Given the description of an element on the screen output the (x, y) to click on. 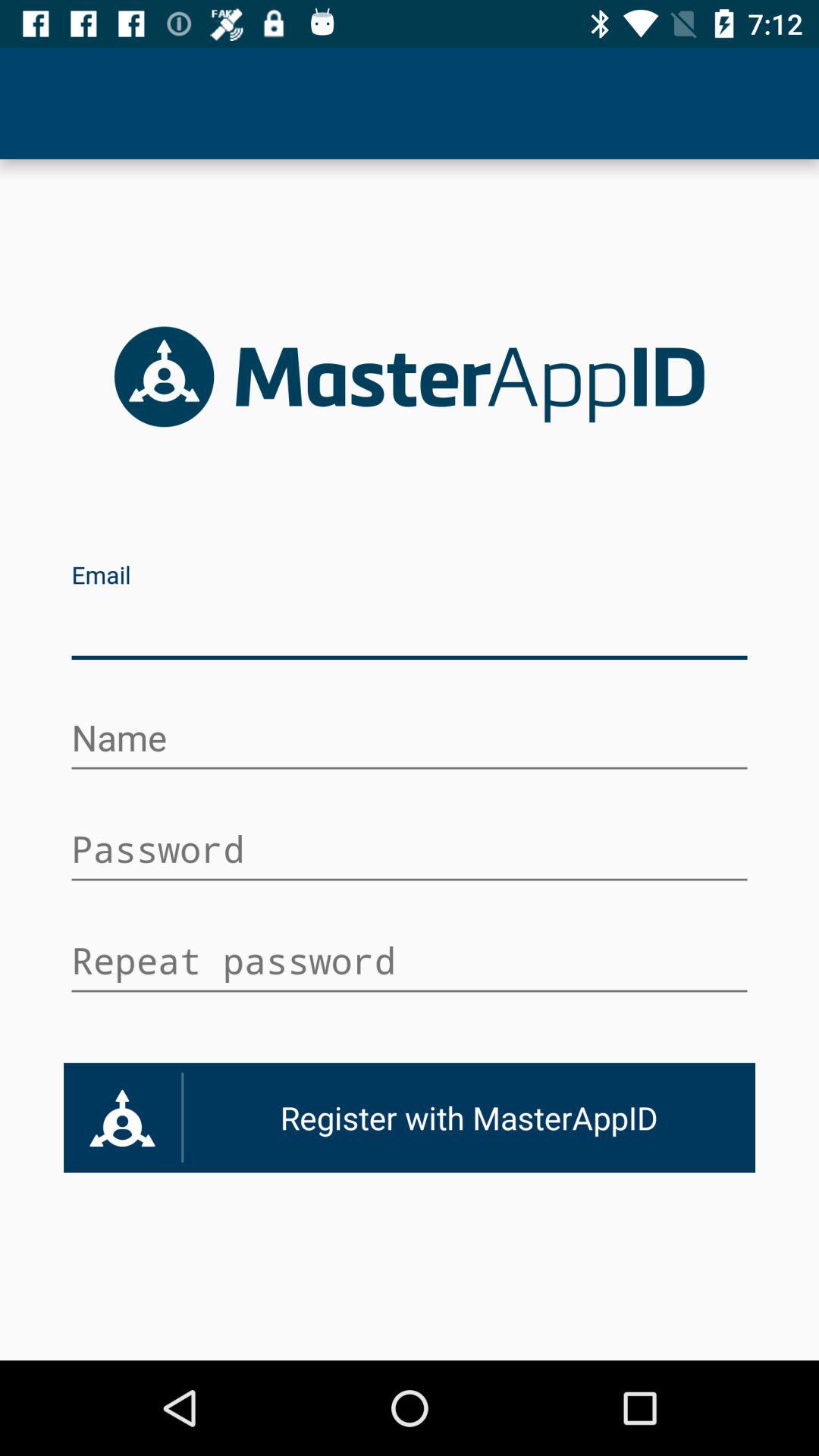
enter name (409, 739)
